Given the description of an element on the screen output the (x, y) to click on. 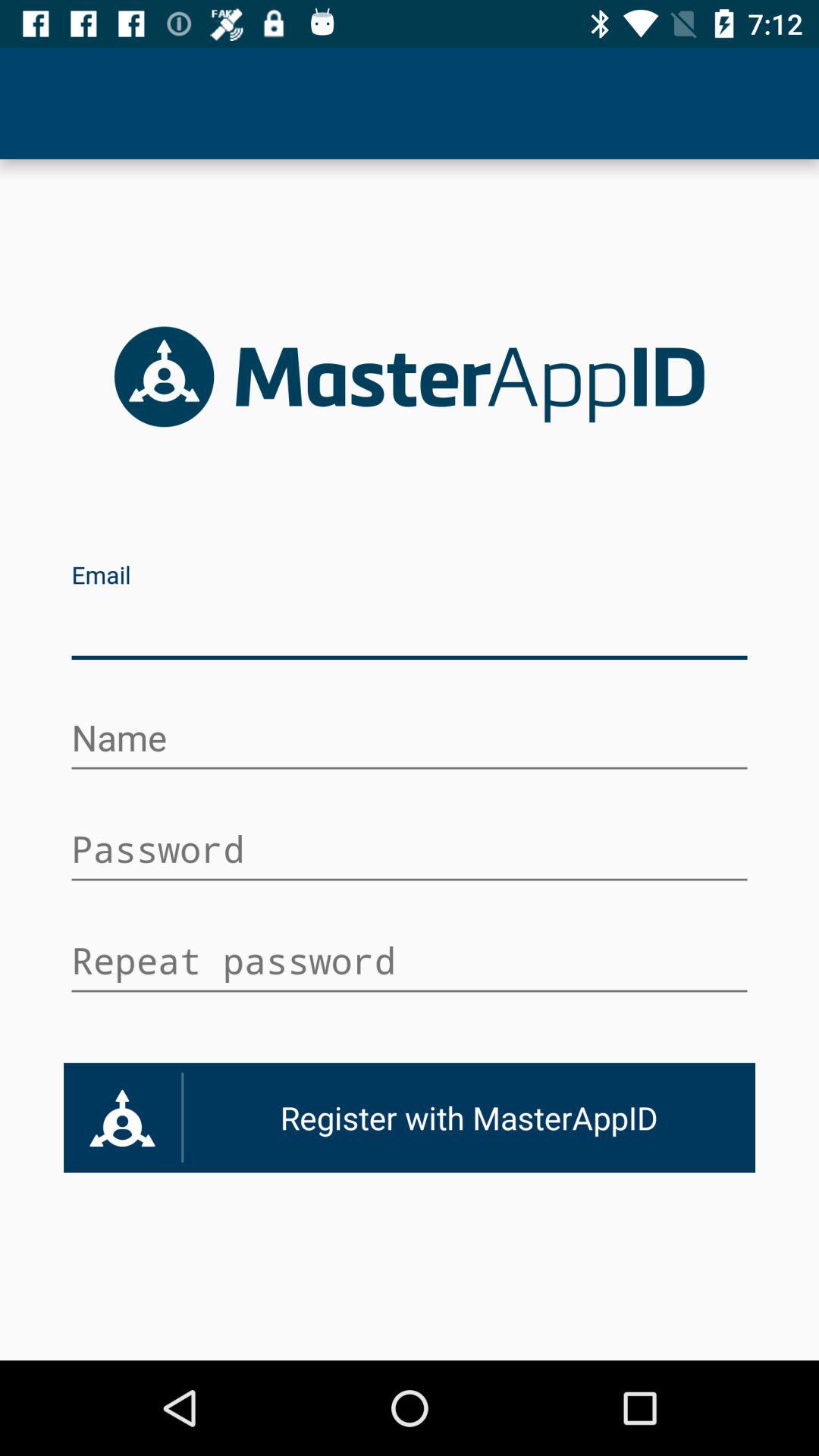
enter name (409, 739)
